Given the description of an element on the screen output the (x, y) to click on. 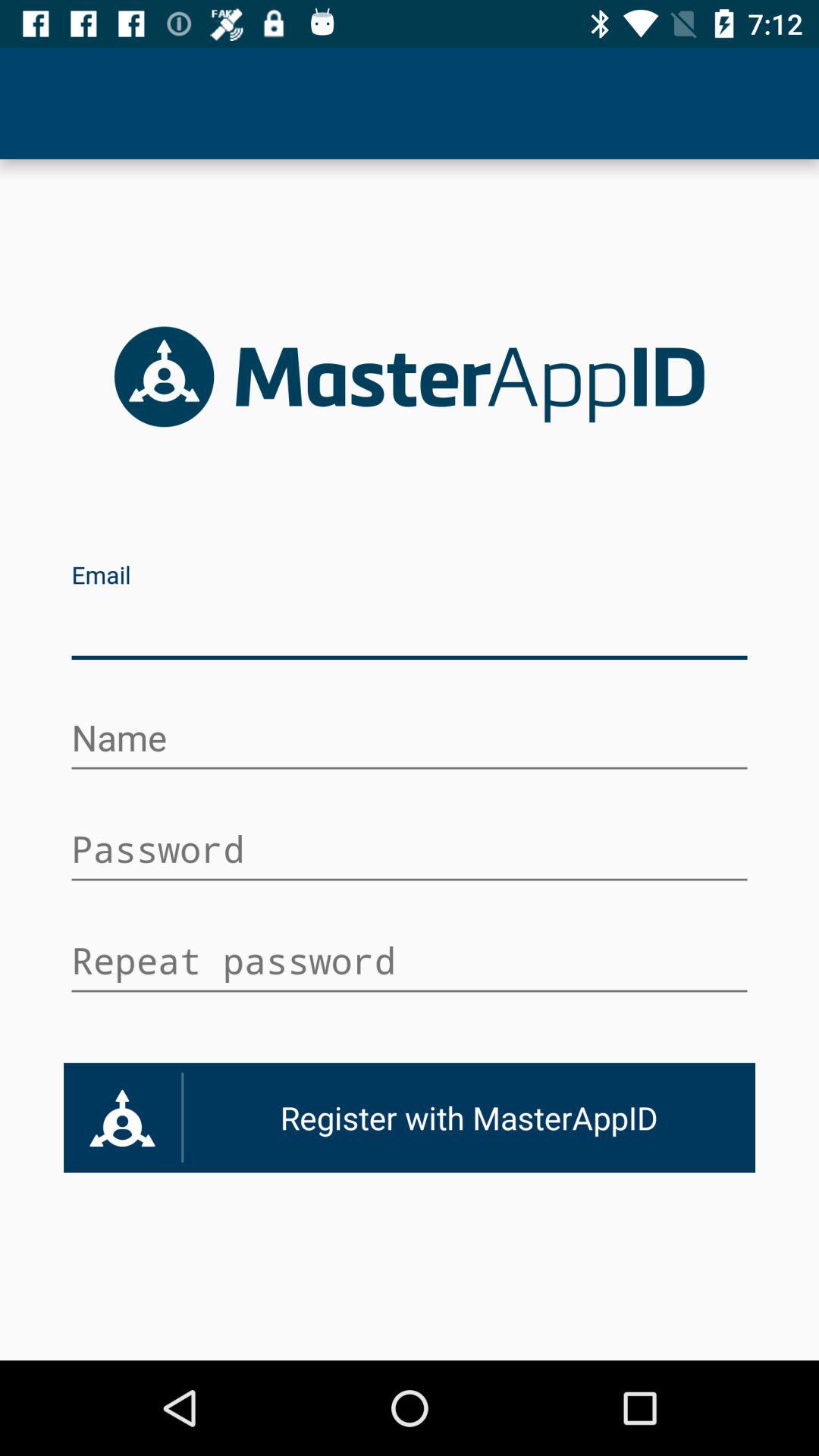
enter name (409, 739)
